Given the description of an element on the screen output the (x, y) to click on. 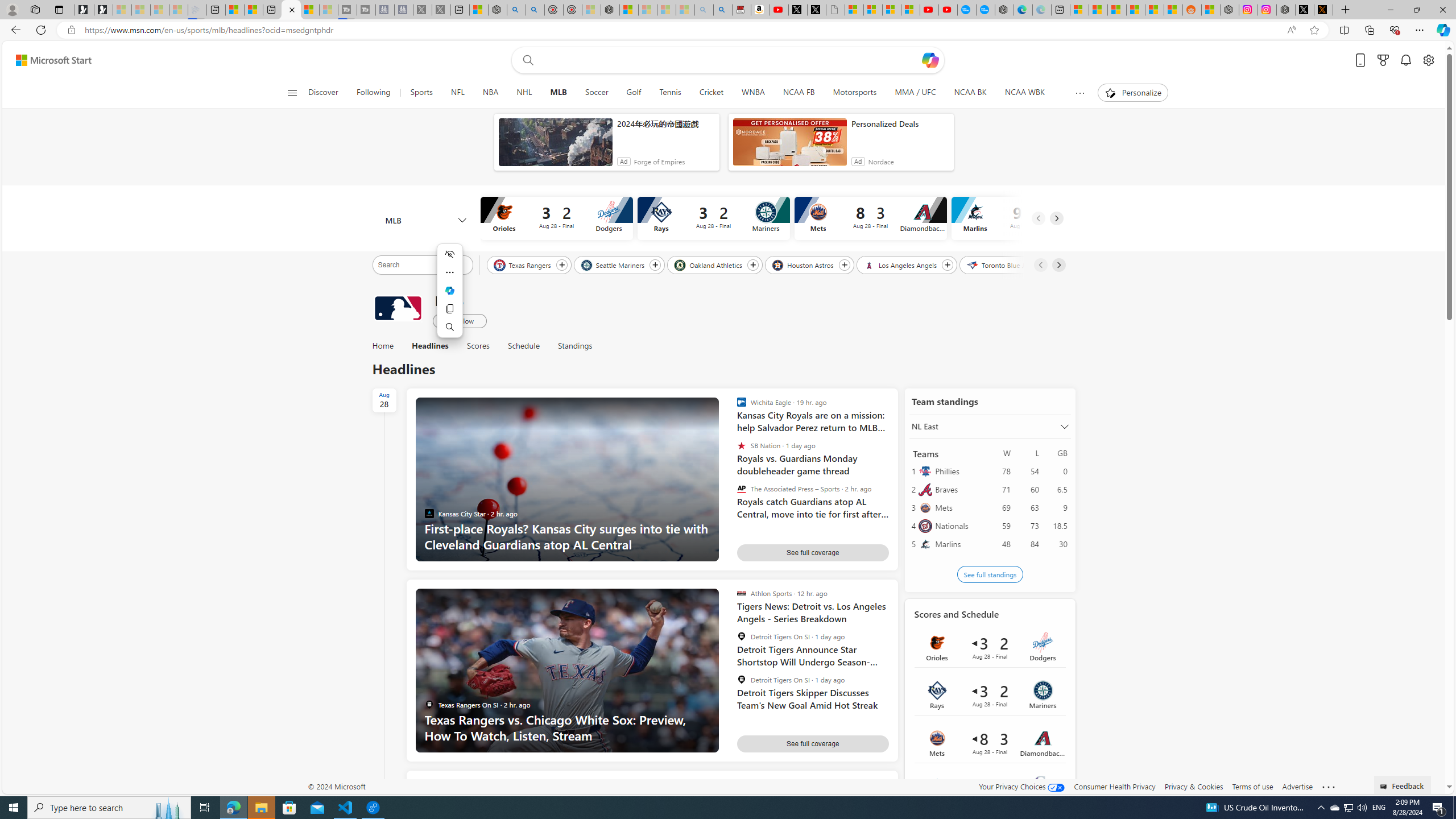
NCAA BK (969, 92)
poe ++ standard - Search (534, 9)
Motorsports (855, 92)
Personalize (1132, 92)
Privacy & Cookies (1193, 785)
WNBA (753, 92)
Soccer (596, 92)
Motorsports (854, 92)
